Given the description of an element on the screen output the (x, y) to click on. 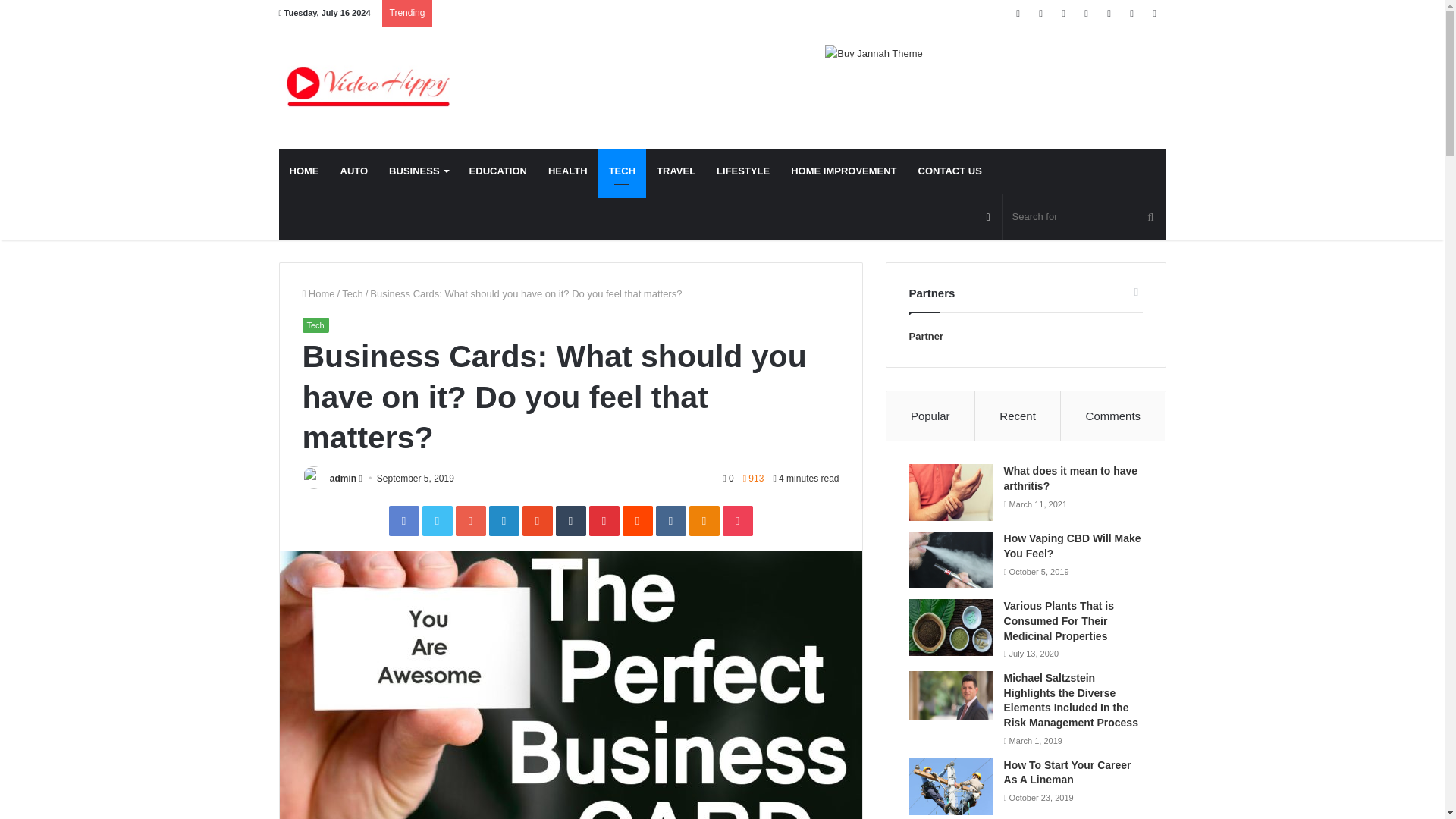
TECH (622, 171)
Random Article (1109, 13)
Instagram (1086, 13)
EDUCATION (497, 171)
admin (343, 478)
Twitter (1040, 13)
TRAVEL (676, 171)
AUTO (353, 171)
LIFESTYLE (743, 171)
HEALTH (567, 171)
Vidoe Hippy (368, 87)
Tech (315, 324)
Facebook (1018, 13)
BUSINESS (418, 171)
Tech (352, 293)
